Given the description of an element on the screen output the (x, y) to click on. 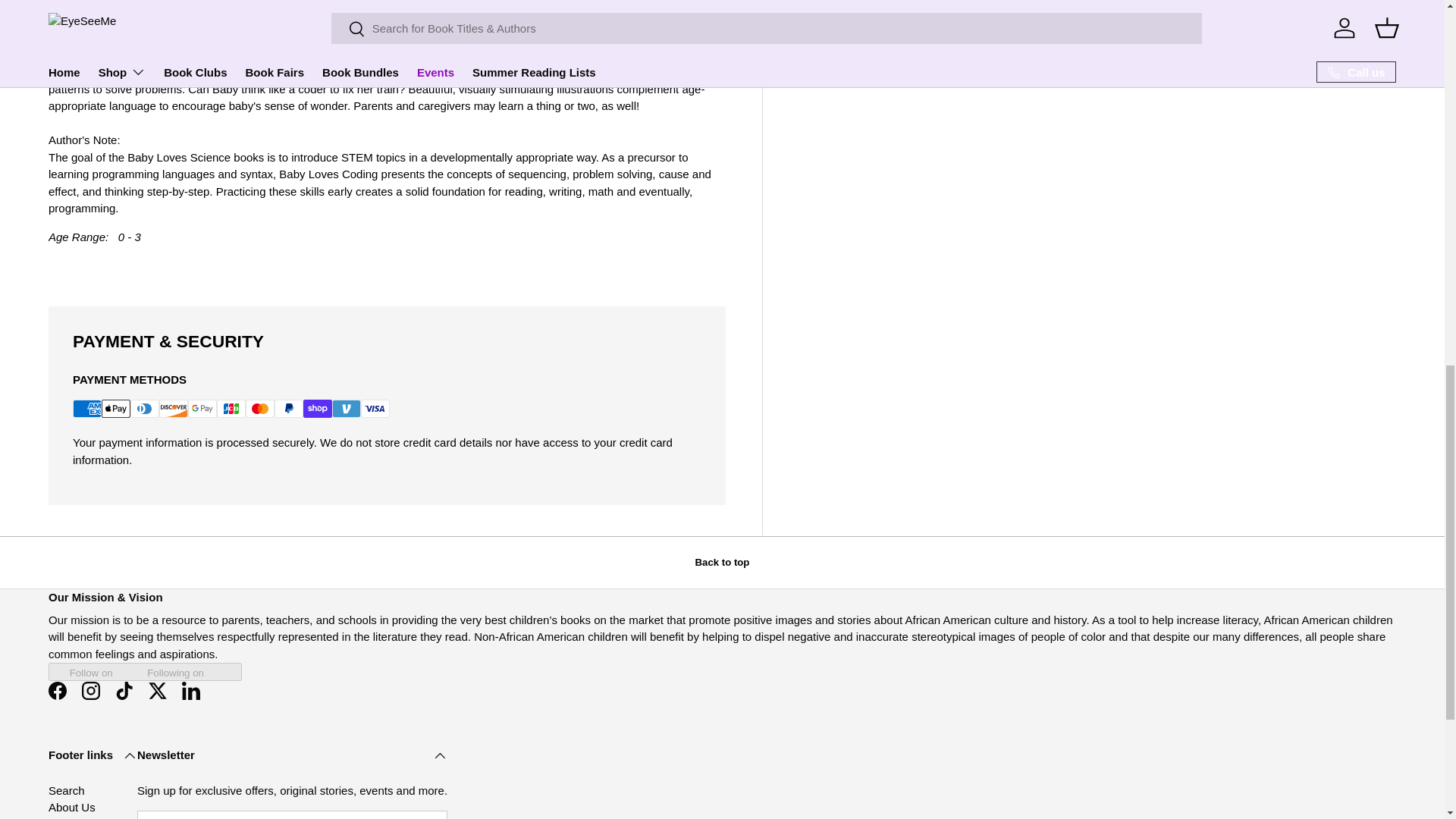
EyeSeeMe  on Twitter (157, 690)
Apple Pay (116, 408)
EyeSeeMe  on Facebook (57, 690)
Google Pay (201, 408)
EyeSeeMe  on LinkedIn (191, 690)
Discover (172, 408)
JCB (231, 408)
Diners Club (144, 408)
EyeSeeMe  on TikTok (124, 690)
Mastercard (260, 408)
